Given the description of an element on the screen output the (x, y) to click on. 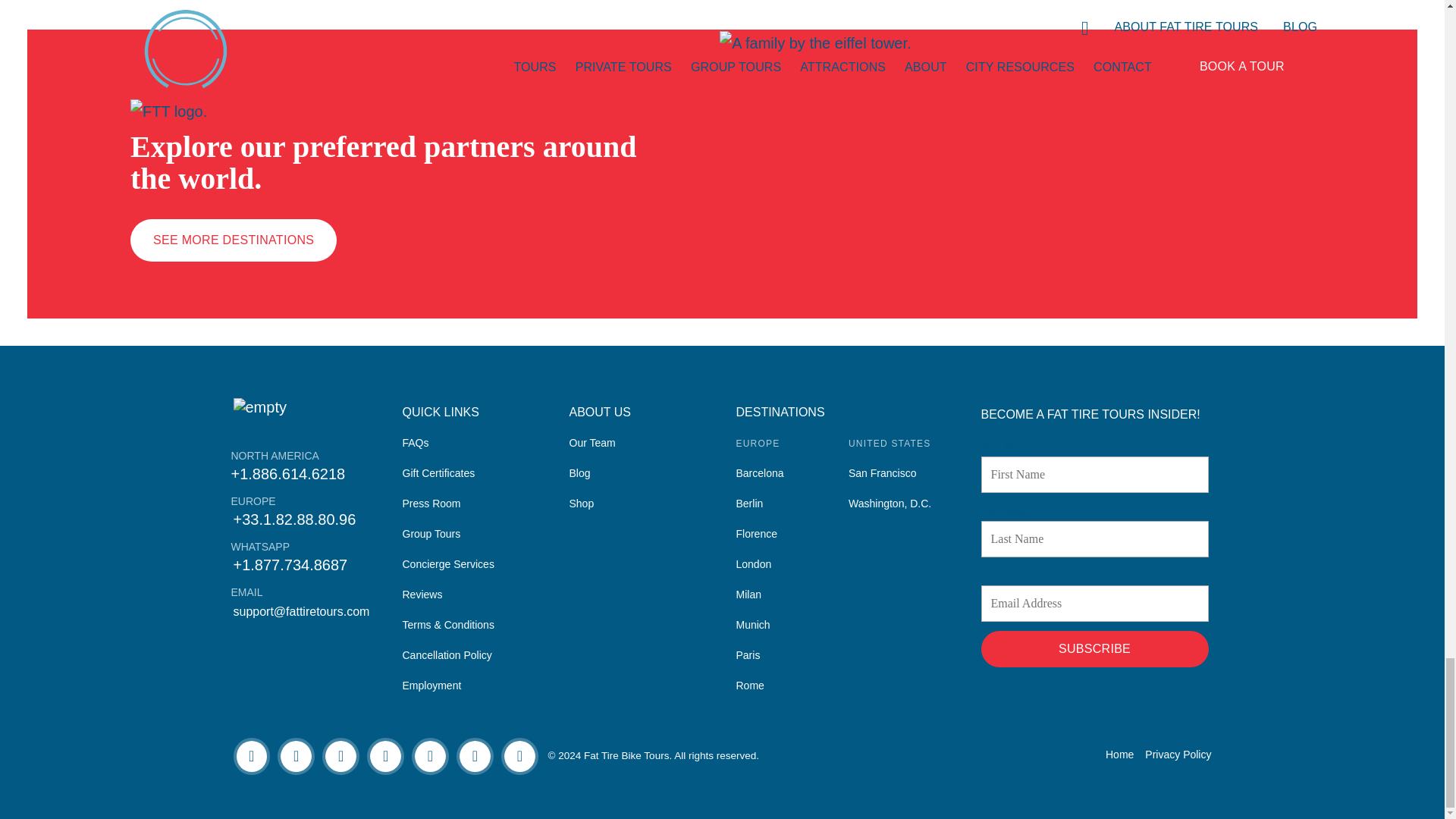
OUR BIKES (1013, 1)
SEE MORE DESTINATIONS (233, 240)
